Given the description of an element on the screen output the (x, y) to click on. 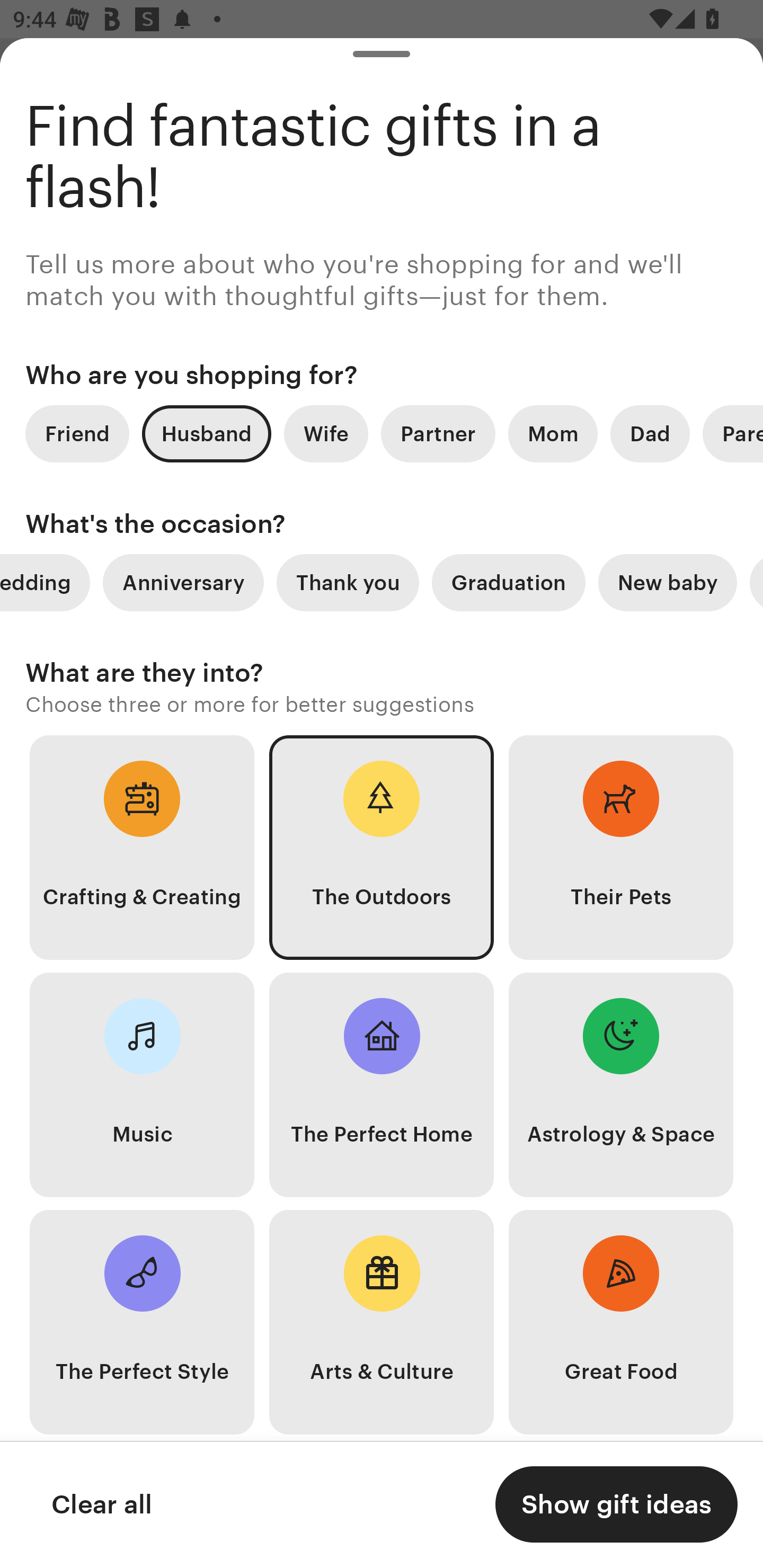
Friend (76, 433)
Husband (206, 433)
Wife (325, 433)
Partner (437, 433)
Mom (552, 433)
Dad (649, 433)
Anniversary (183, 582)
Thank you (347, 582)
Graduation (508, 582)
New baby (667, 582)
Crafting & Creating (141, 847)
The Outdoors (381, 847)
Their Pets (620, 847)
Music (141, 1084)
The Perfect Home (381, 1084)
Astrology & Space (620, 1084)
The Perfect Style (141, 1322)
Arts & Culture (381, 1322)
Great Food (620, 1322)
Clear all (101, 1504)
Show gift ideas (616, 1504)
